Given the description of an element on the screen output the (x, y) to click on. 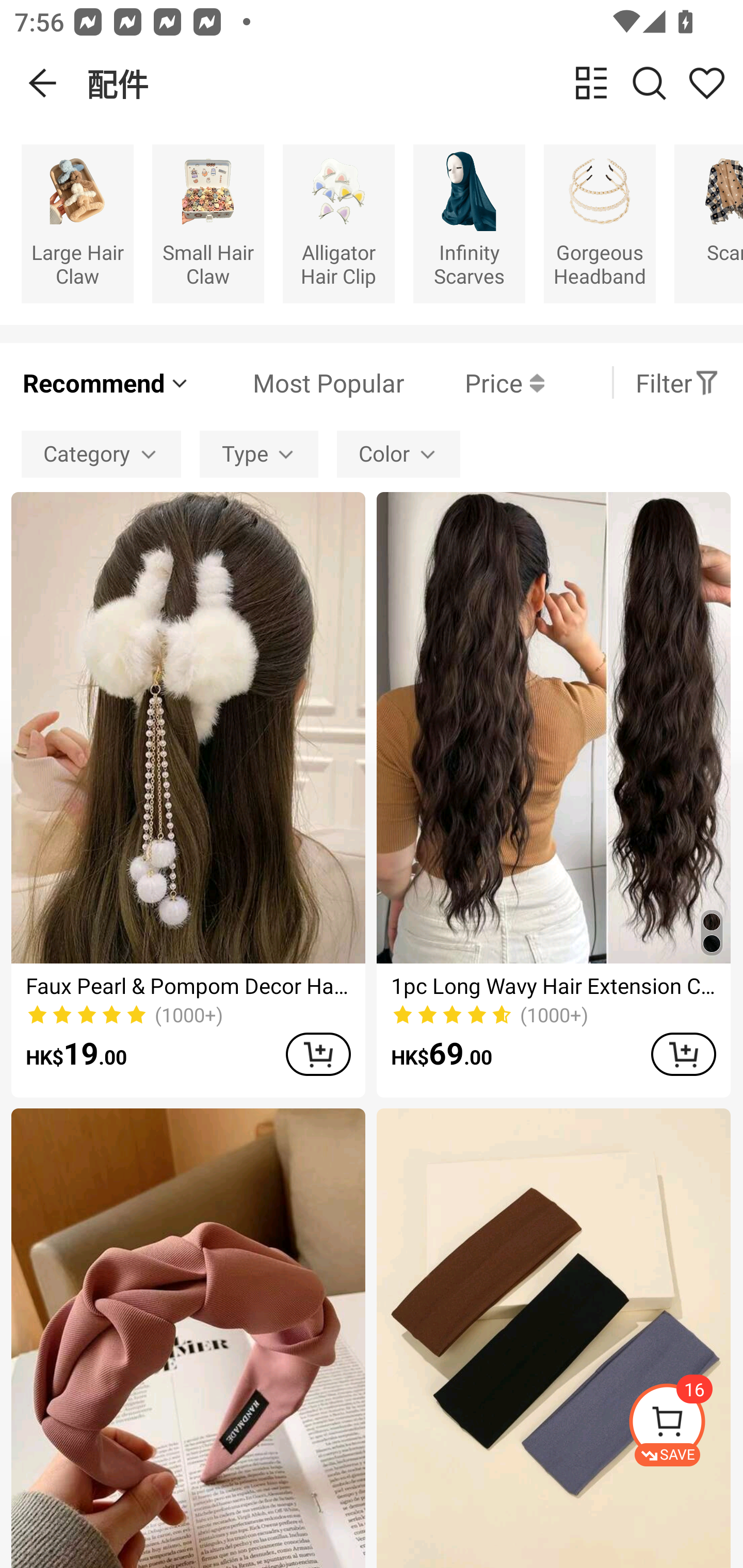
配件 change view Search Share (414, 82)
change view (591, 82)
Search (648, 82)
Share (706, 82)
Large Hair Claw (77, 223)
Small Hair Claw (208, 223)
Alligator Hair Clip (338, 223)
Infinity Scarves (469, 223)
Gorgeous Headband (599, 223)
Scarf (708, 223)
Recommend (106, 382)
Most Popular (297, 382)
Price (474, 382)
Filter (677, 382)
Category (101, 454)
Type (258, 454)
Color (397, 454)
ADD TO CART (318, 1054)
ADD TO CART (683, 1054)
3pcs Simple Solid Hair Band Casual (553, 1338)
SAVE (685, 1424)
